Given the description of an element on the screen output the (x, y) to click on. 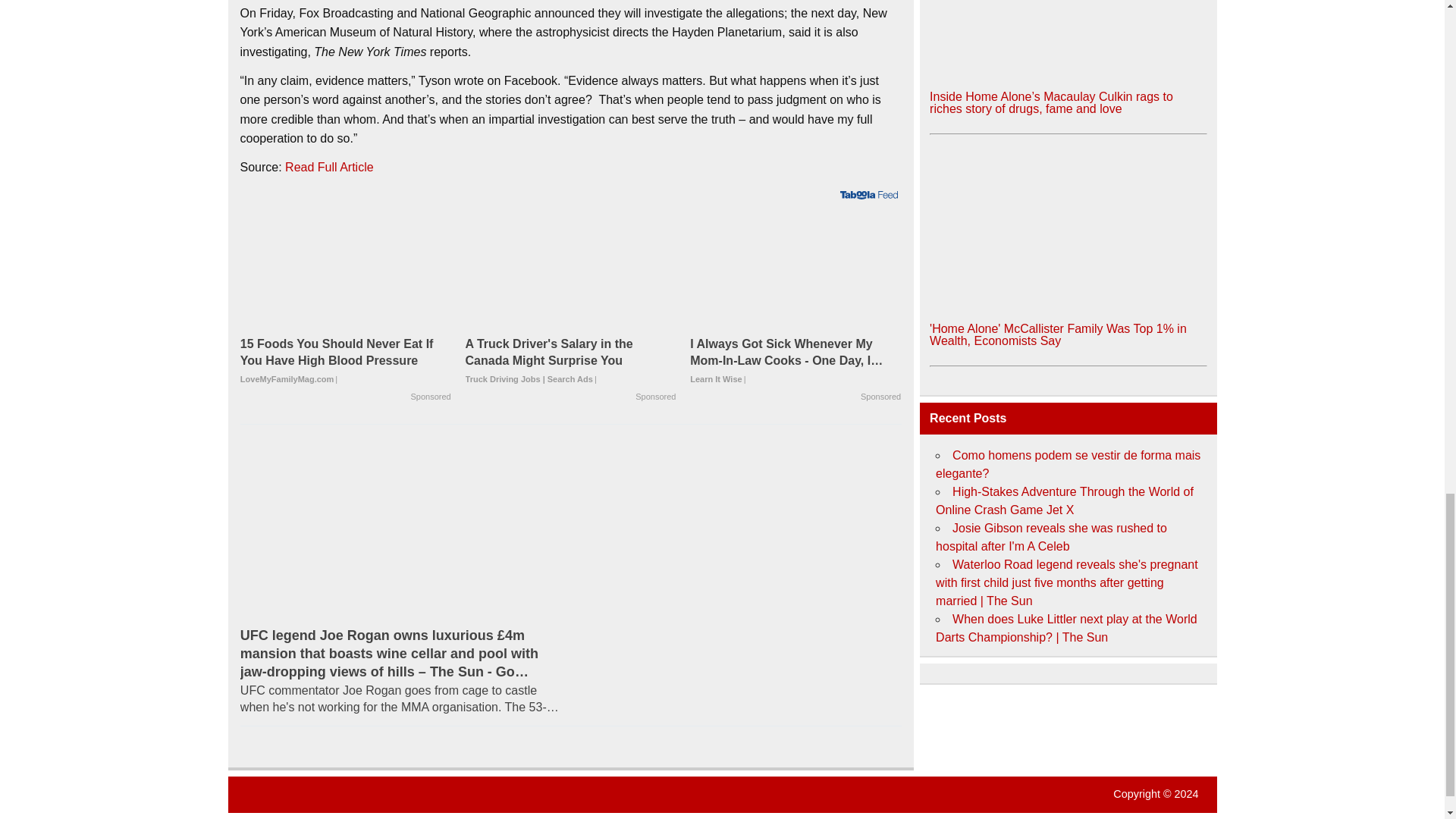
A Truck Driver's Salary in the Canada Might Surprise You (571, 361)
Sponsored (654, 397)
Sponsored (880, 397)
Read Full Article (329, 166)
A Truck Driver's Salary in the Canada Might Surprise You (571, 272)
Sponsored (430, 397)
